Given the description of an element on the screen output the (x, y) to click on. 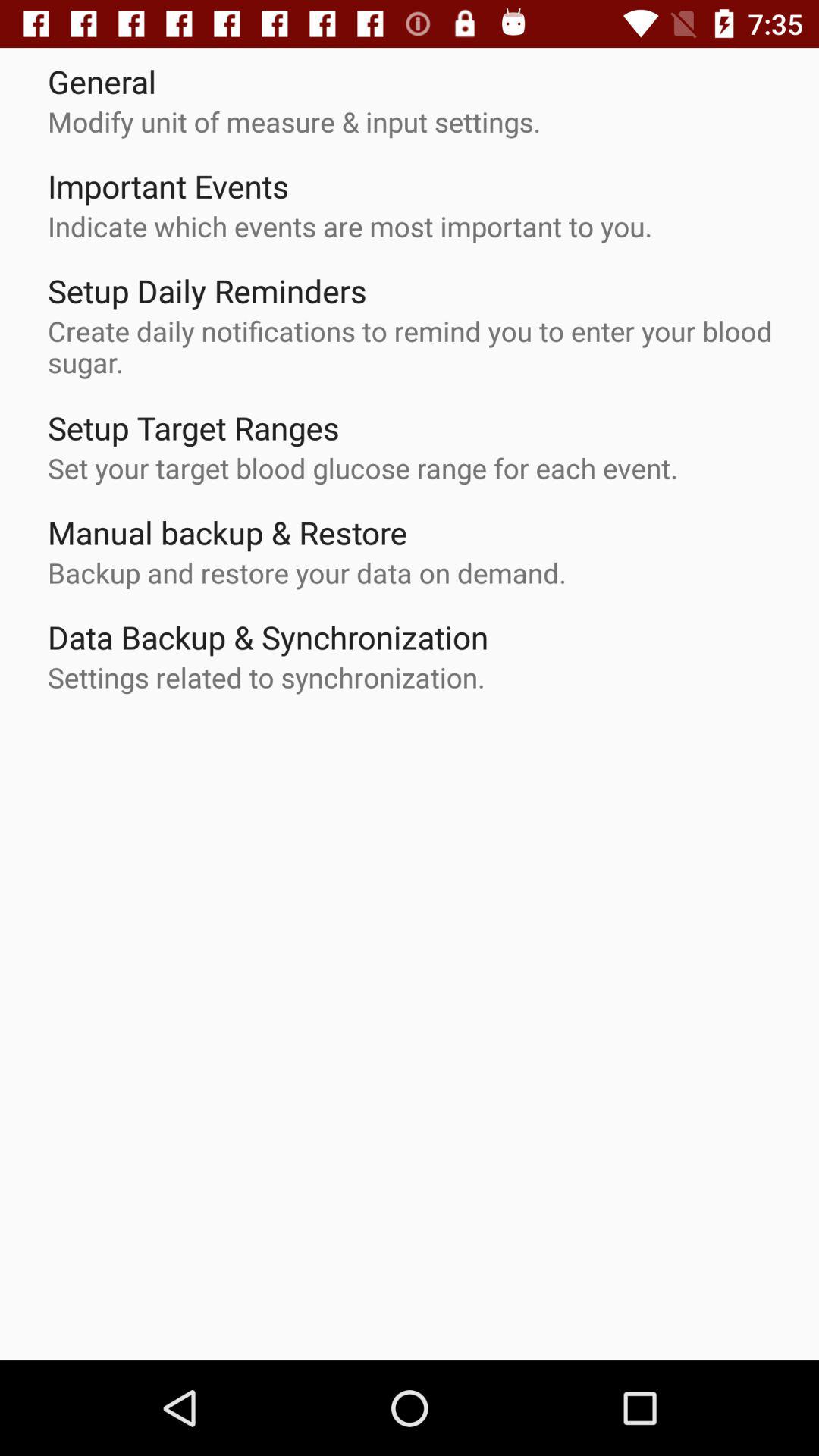
scroll to the setup daily reminders icon (206, 290)
